Given the description of an element on the screen output the (x, y) to click on. 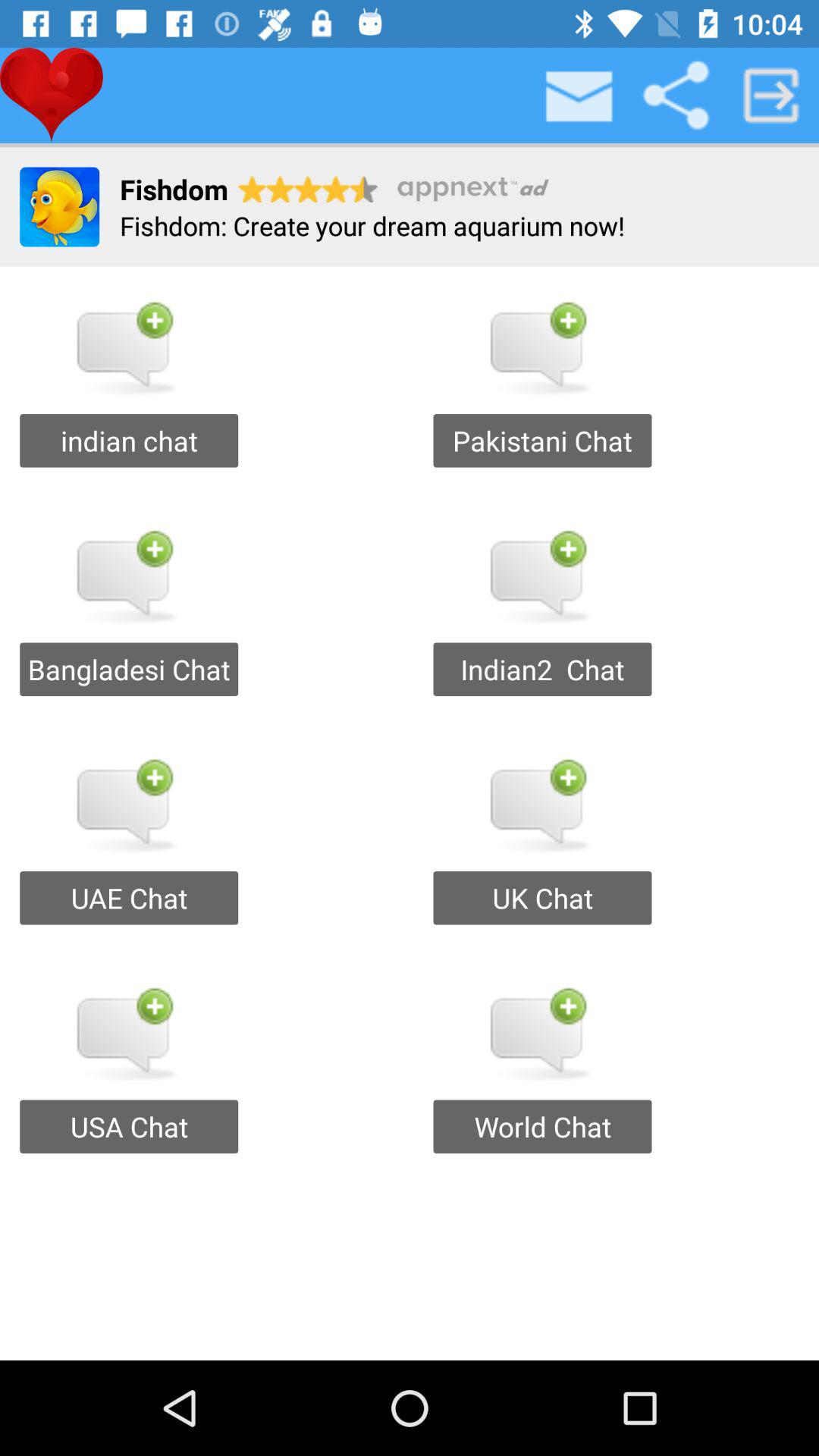
message (579, 95)
